Given the description of an element on the screen output the (x, y) to click on. 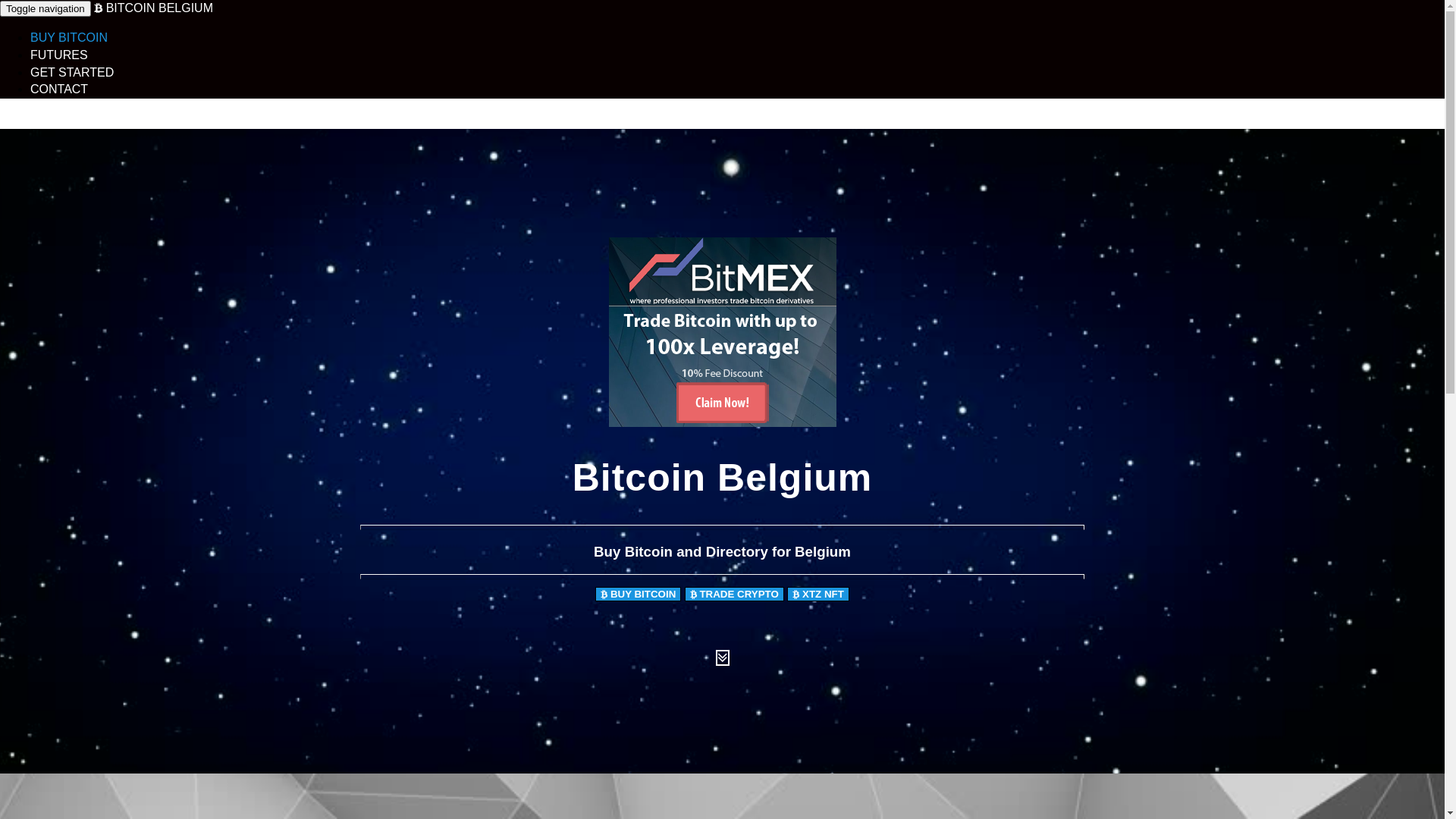
Toggle navigation Element type: text (45, 8)
FUTURES Element type: text (58, 54)
TRADE CRYPTO Element type: text (734, 592)
TRADE CRYPTO Element type: text (734, 593)
BUY BITCOIN Element type: text (68, 37)
XTZ NFT Element type: text (818, 593)
BUY BITCOIN Element type: text (637, 592)
CONTACT Element type: text (58, 88)
BUY BITCOIN Element type: text (637, 593)
BITCOIN BELGIUM Element type: text (153, 7)
GET STARTED Element type: text (71, 71)
XTZ NFT Element type: text (818, 592)
